Given the description of an element on the screen output the (x, y) to click on. 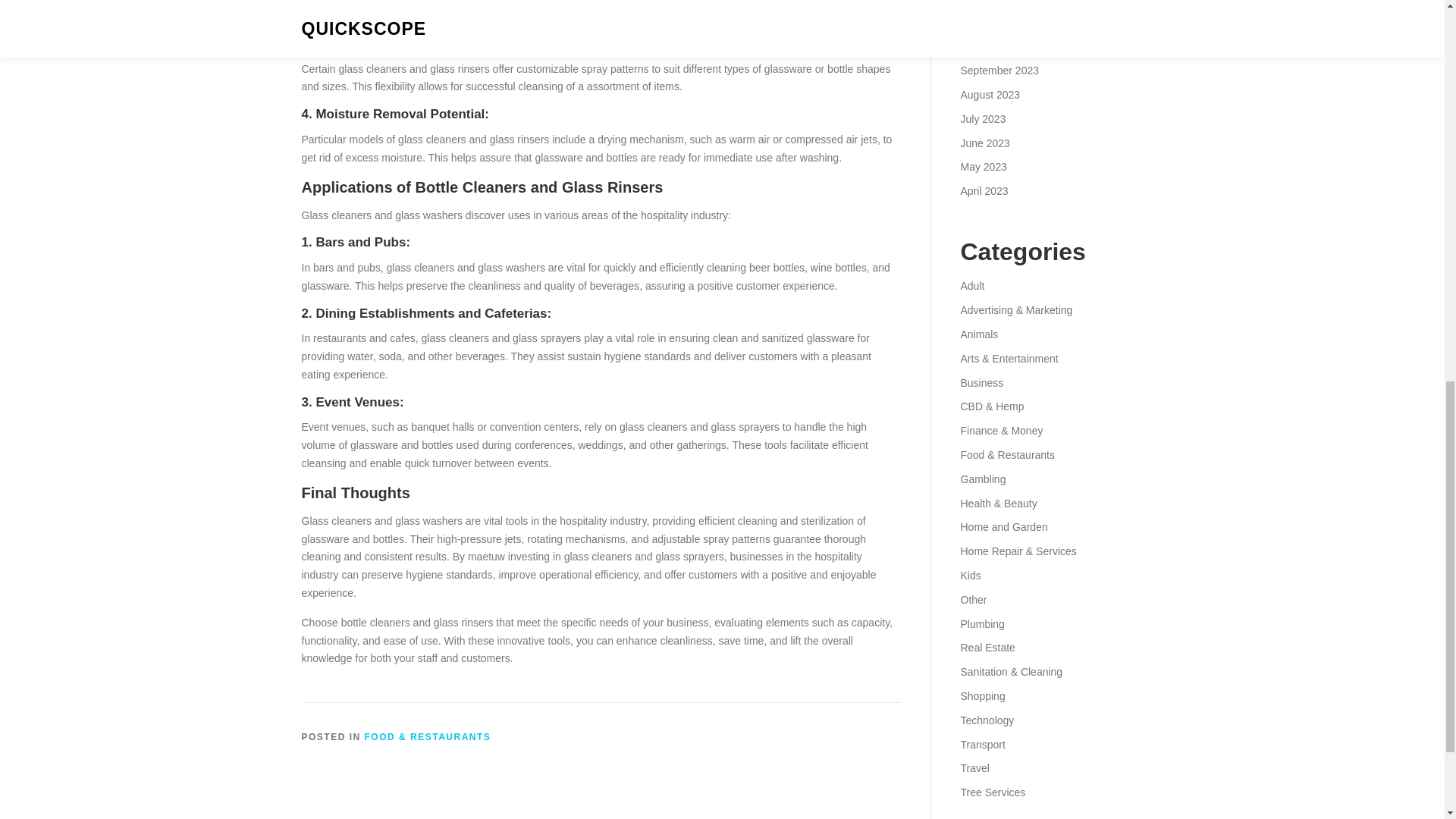
July 2023 (982, 119)
Adult (971, 285)
May 2023 (982, 166)
April 2023 (983, 191)
September 2023 (999, 70)
Business (981, 382)
October 2023 (992, 46)
December 2023 (997, 2)
November 2023 (997, 22)
June 2023 (984, 143)
